Given the description of an element on the screen output the (x, y) to click on. 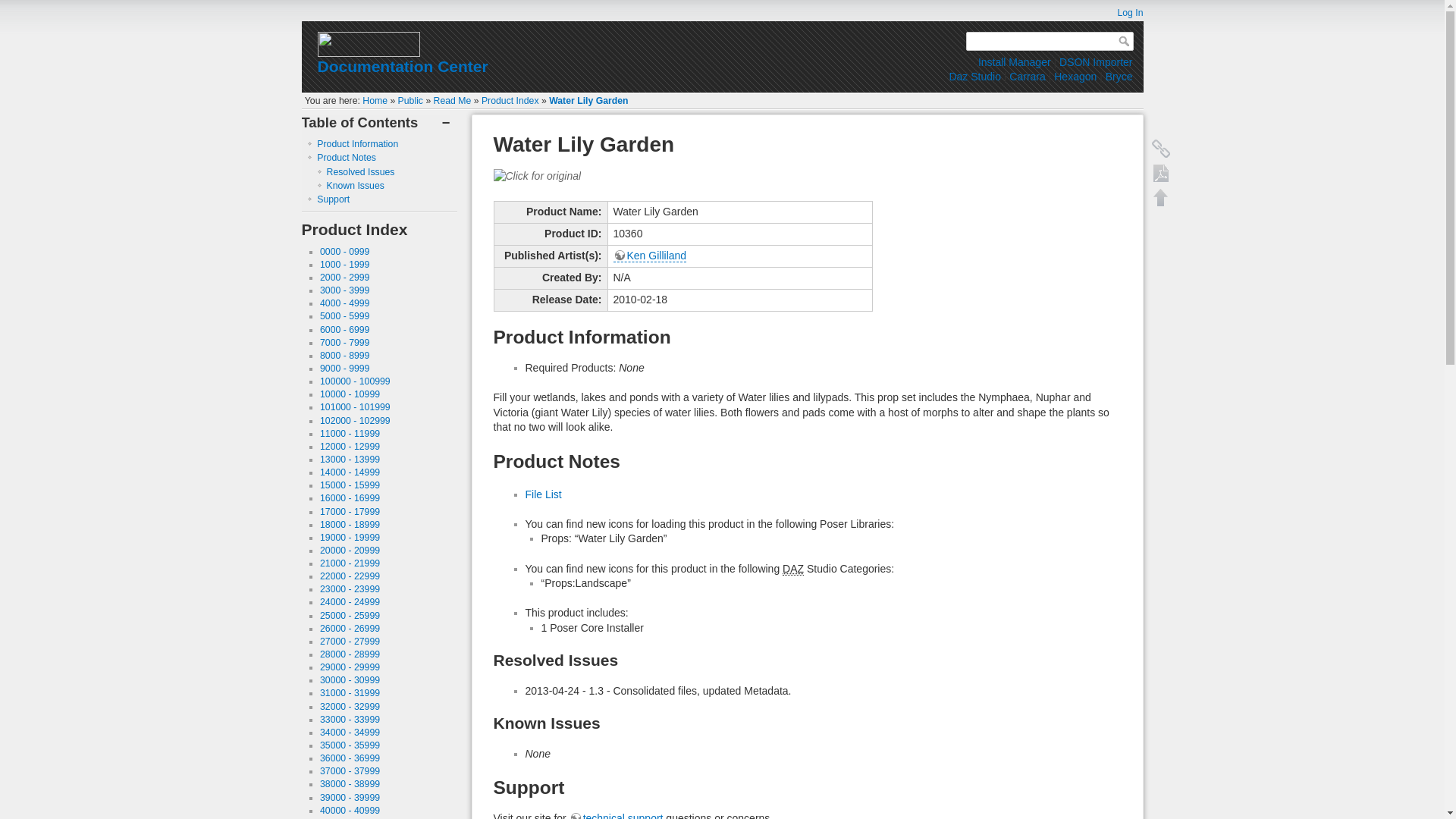
Water Lily Garden (587, 100)
Resolved Issues (360, 172)
Read Me (452, 100)
public:software:bryce:start (1118, 76)
Home (374, 100)
7000 - 7999 (344, 342)
public:start (410, 100)
Log In (1122, 12)
Support (333, 199)
1000 - 1999 (344, 264)
